Given the description of an element on the screen output the (x, y) to click on. 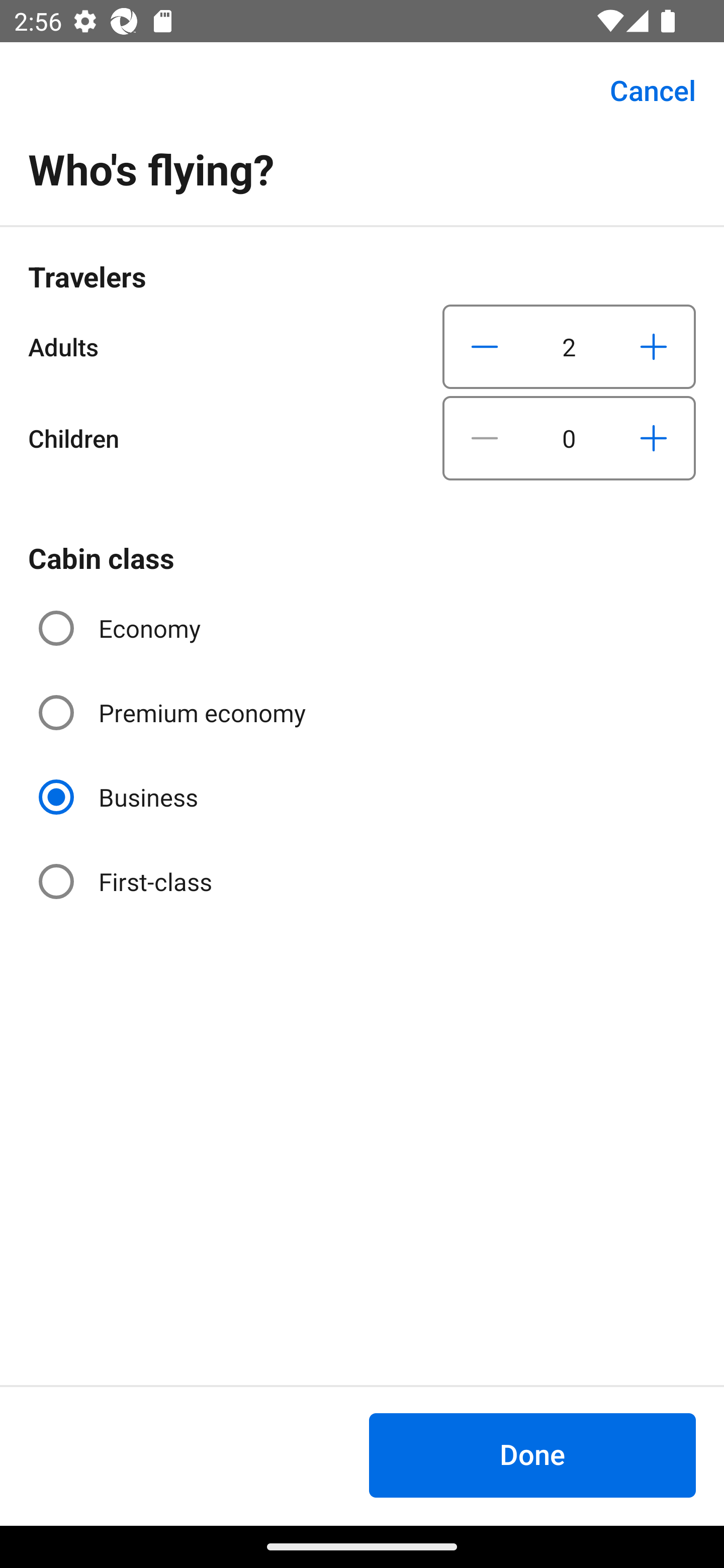
Cancel (641, 90)
Decrease (484, 346)
Increase (653, 346)
Decrease (484, 437)
Increase (653, 437)
Economy (121, 628)
Premium economy (174, 712)
Business (120, 796)
First-class (126, 880)
Done (532, 1454)
